Given the description of an element on the screen output the (x, y) to click on. 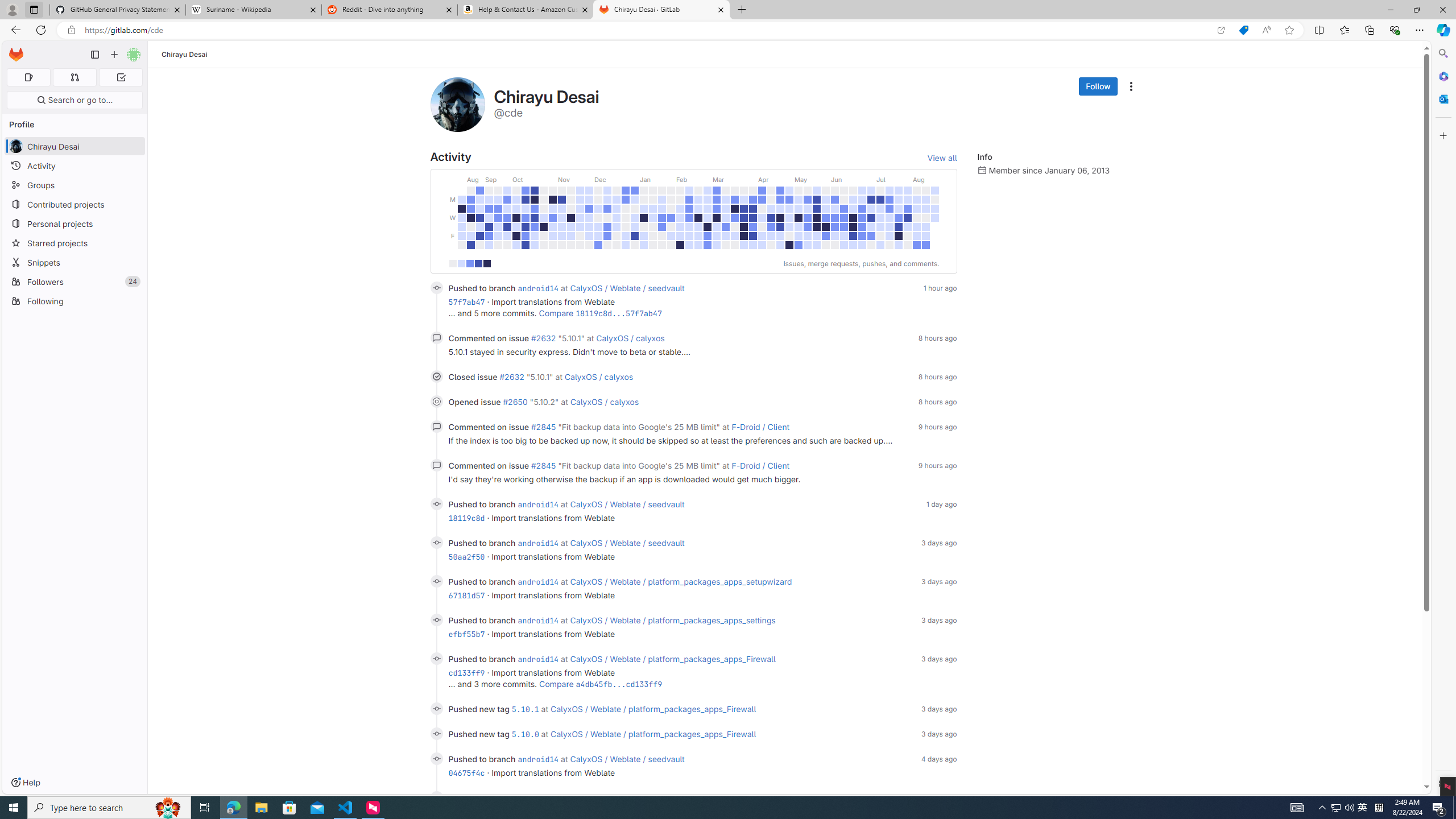
30+ contributions (486, 262)
Help & Contact Us - Amazon Customer Service (525, 9)
Chirayu Desai (184, 53)
